Given the description of an element on the screen output the (x, y) to click on. 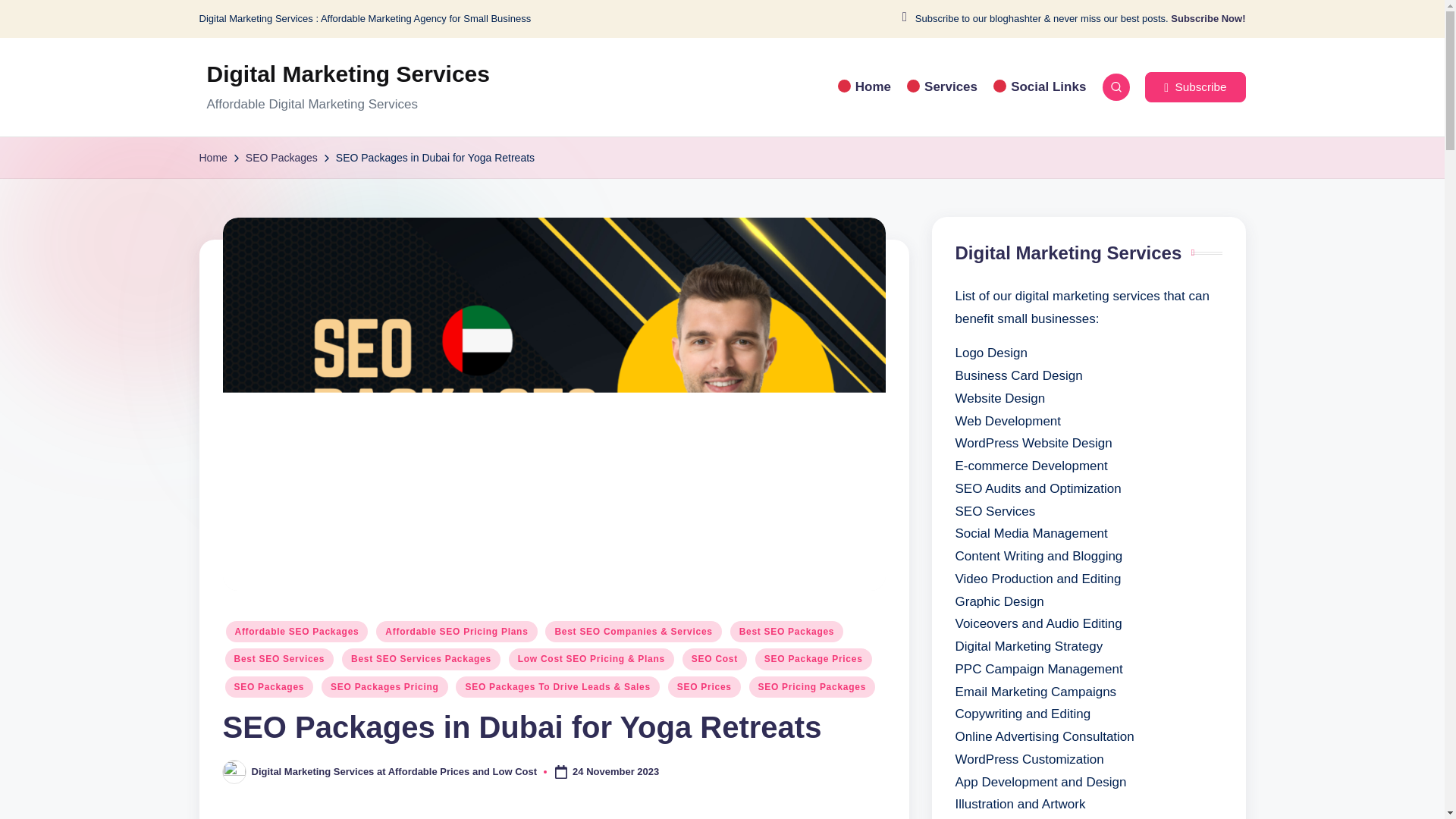
Home (212, 157)
Affordable SEO Pricing Plans (456, 631)
Subscribe Now! (1207, 18)
SEO Packages Pricing (383, 686)
SEO Package Prices (813, 658)
SEO Packages (281, 157)
Social Links (1039, 87)
Affordable SEO Packages (296, 631)
Digital Marketing Services (347, 74)
